Given the description of an element on the screen output the (x, y) to click on. 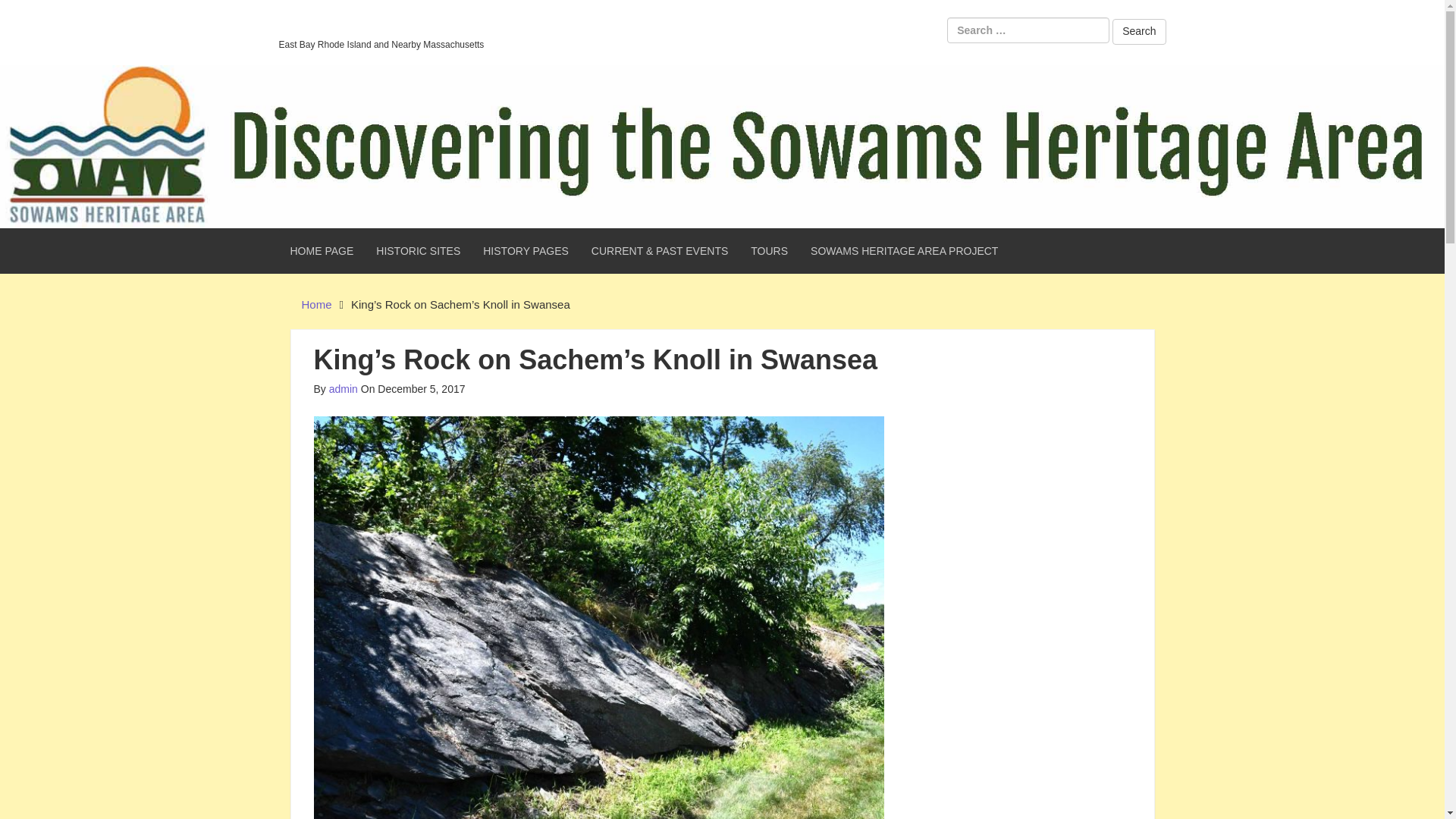
Posts by admin (343, 388)
Search (1139, 31)
HISTORIC SITES (418, 250)
SOWAMS HERITAGE AREA PROJECT (904, 250)
TOURS (769, 250)
Home (316, 304)
SOWAMS HERITAGE AREA PROJECT (904, 250)
Tuesday, December 5, 2017, 8:20 pm (413, 388)
Search (1139, 31)
HOME PAGE (322, 250)
Search (1139, 31)
HISTORY PAGES (525, 250)
HOME PAGE (322, 250)
HISTORY PAGES (525, 250)
admin (343, 388)
